Given the description of an element on the screen output the (x, y) to click on. 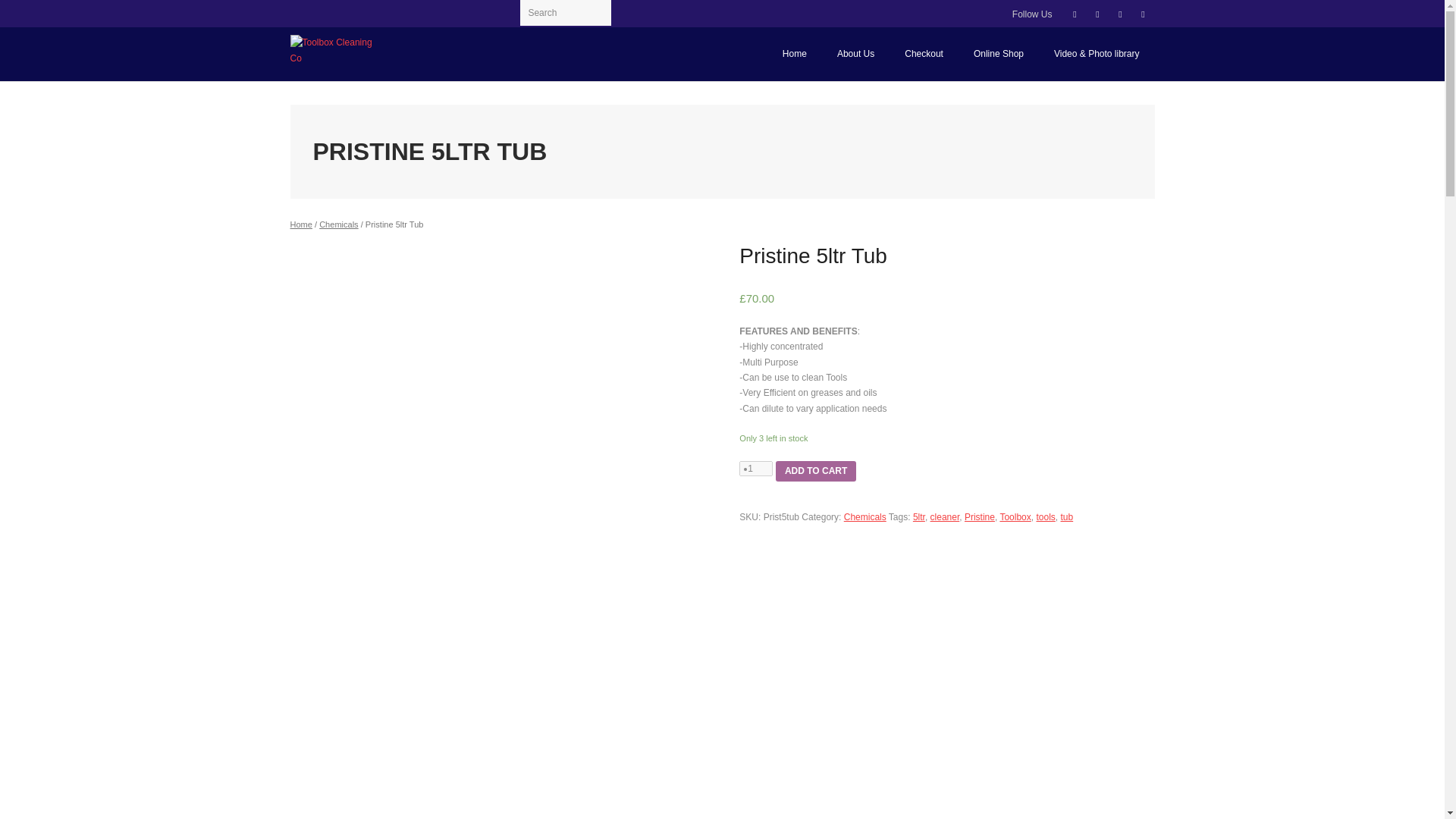
Search (30, 12)
Toolbox (1014, 516)
Home (300, 224)
Home (794, 53)
cleaner (944, 516)
Checkout (923, 53)
Chemicals (865, 516)
1 (756, 468)
Online Shop (998, 53)
5ltr (918, 516)
About Us (855, 53)
Pristine (978, 516)
Chemicals (338, 224)
ADD TO CART (816, 471)
